Given the description of an element on the screen output the (x, y) to click on. 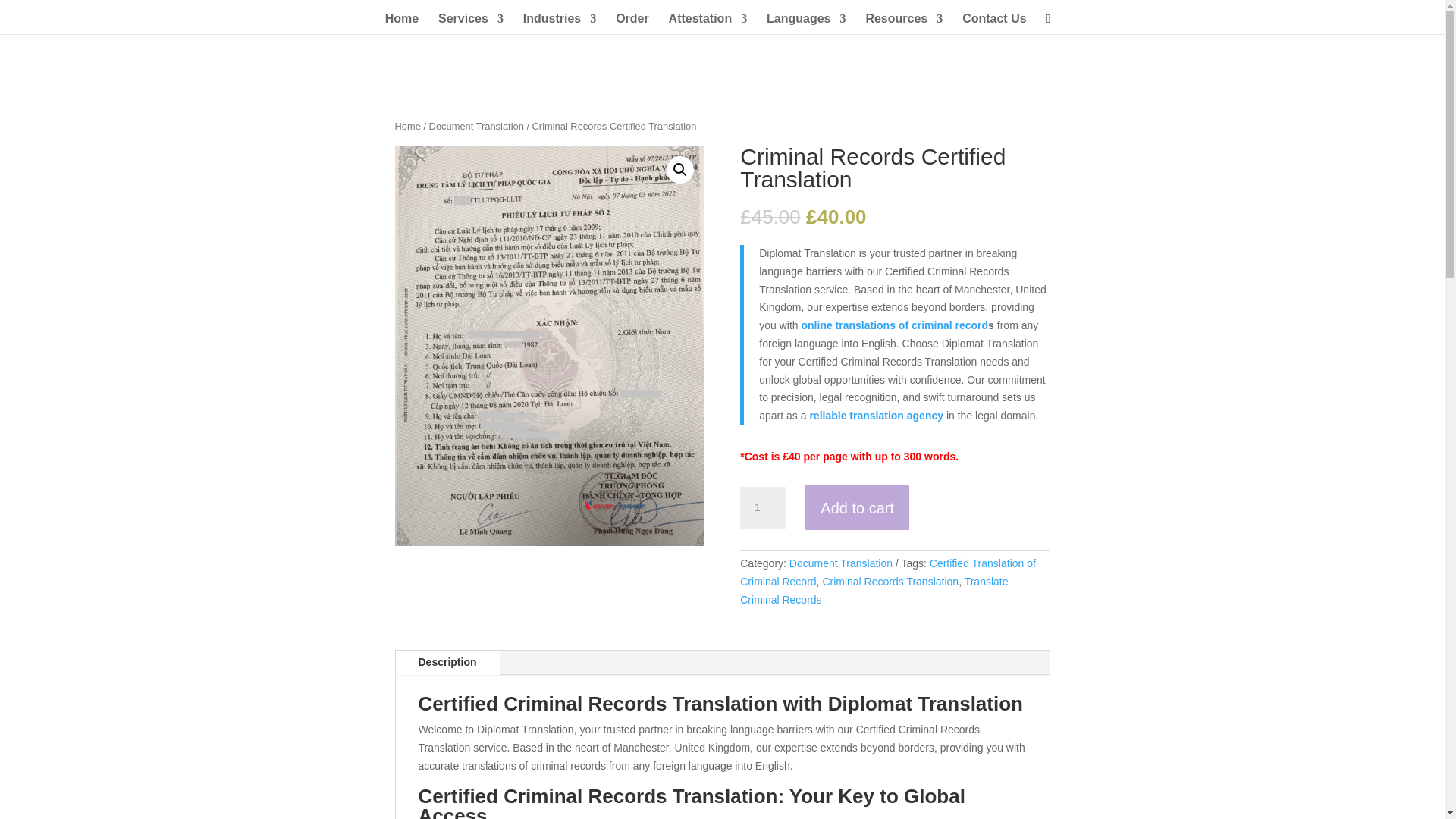
1 (762, 507)
Home (402, 23)
Industries (558, 23)
Services (470, 23)
